Given the description of an element on the screen output the (x, y) to click on. 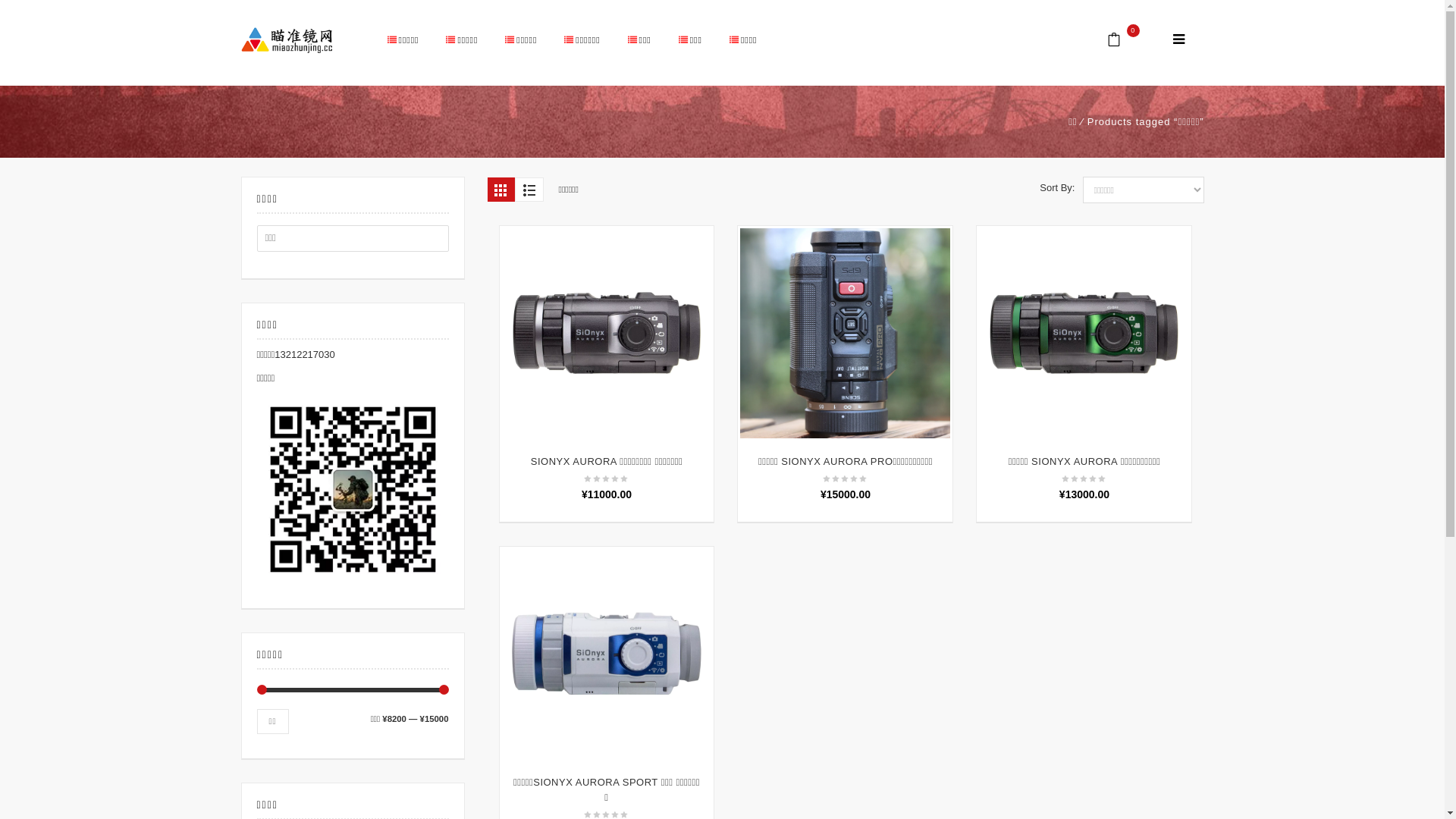
0 Element type: text (1123, 40)
clicker: Element type: hover (1178, 40)
List Element type: hover (528, 189)
